Given the description of an element on the screen output the (x, y) to click on. 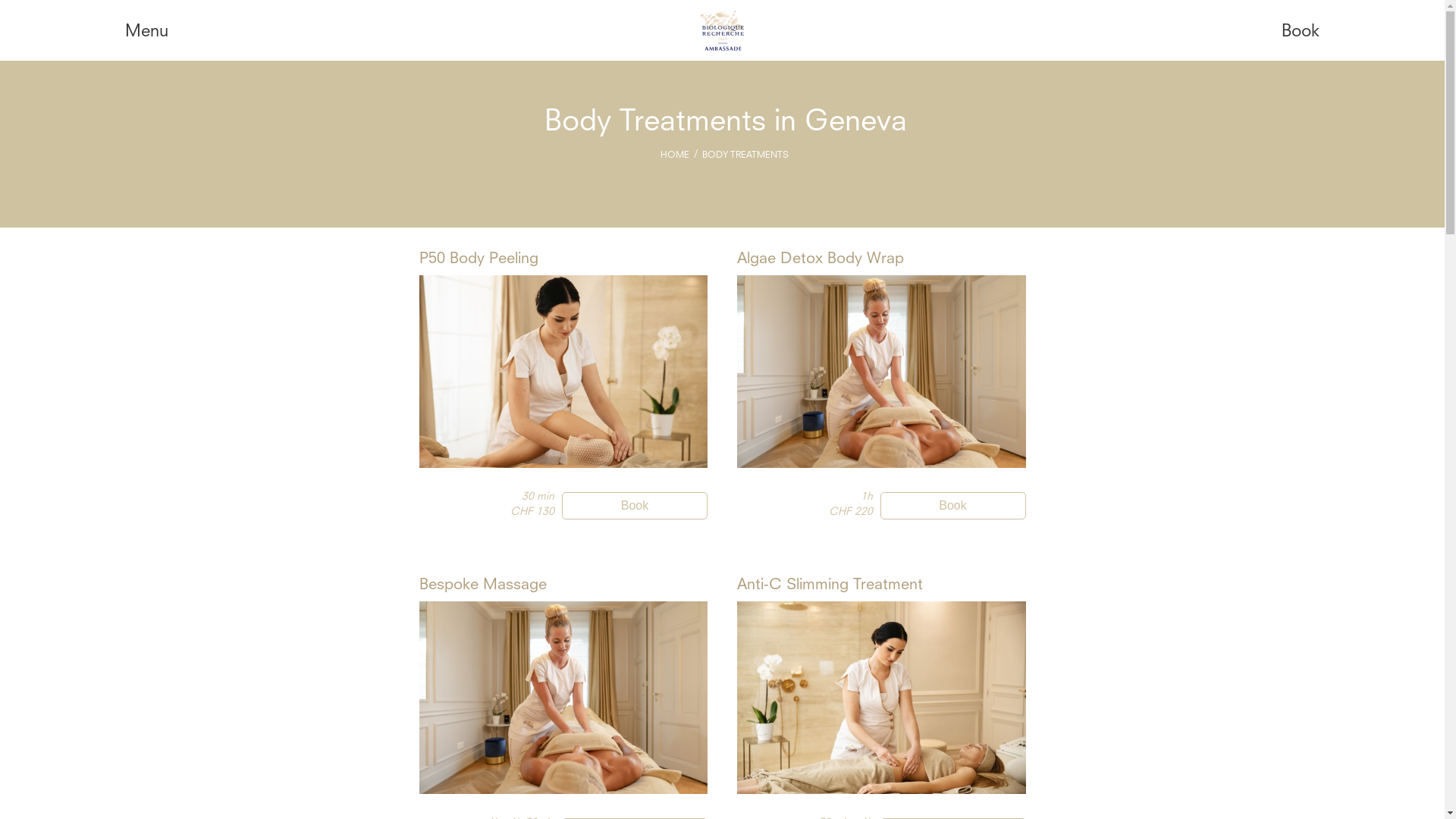
Book Element type: text (1300, 31)
Menu Element type: text (146, 31)
Book Element type: text (952, 505)
P50 Body Peeling Element type: text (477, 258)
Book Element type: text (634, 505)
Bespoke Massage Element type: text (482, 585)
HOME Element type: text (674, 155)
Anti-C Slimming Treatment Element type: text (829, 585)
Algae Detox Body Wrap Element type: text (820, 258)
BODY TREATMENTS Element type: text (745, 155)
